Given the description of an element on the screen output the (x, y) to click on. 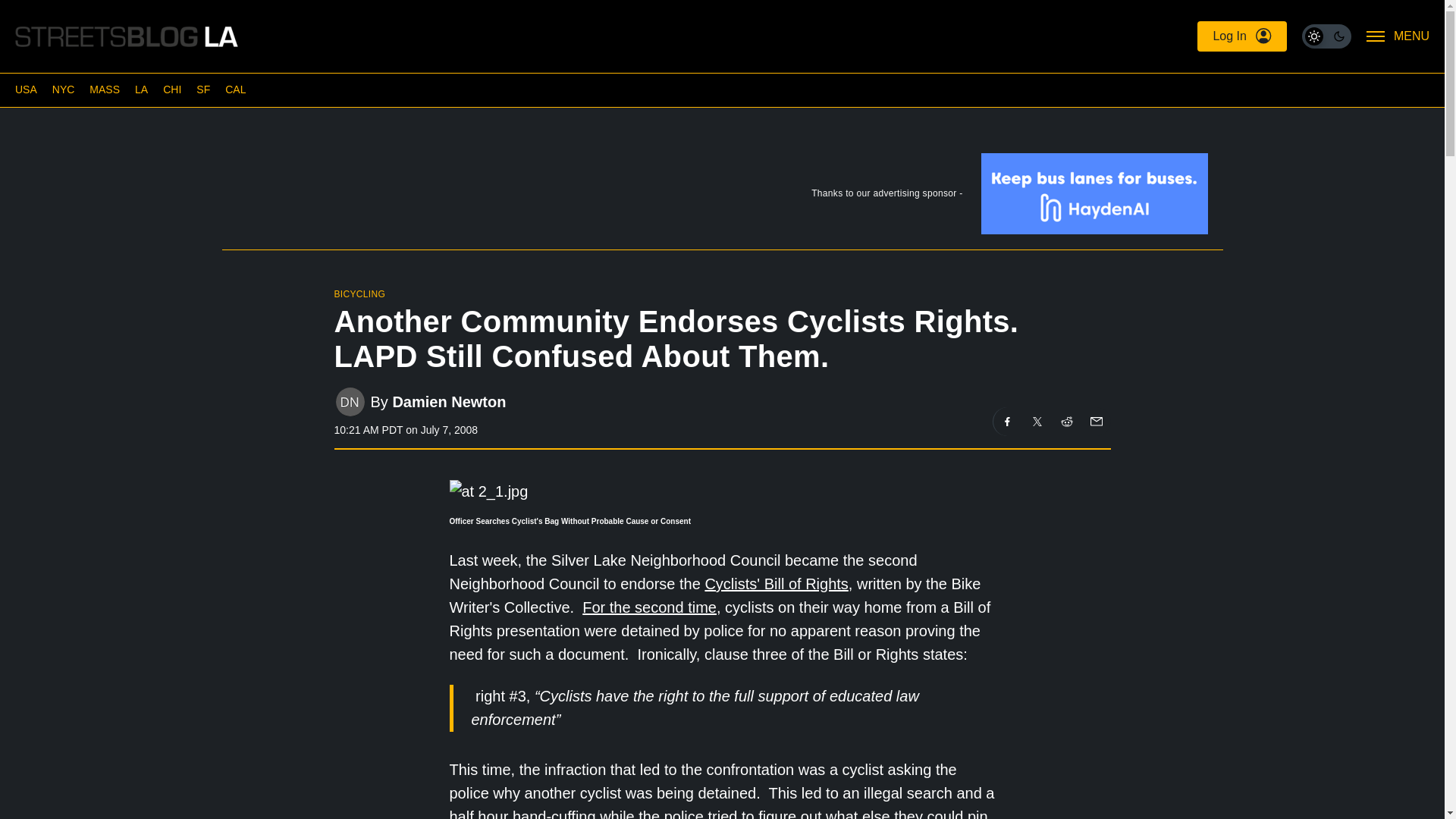
BICYCLING (359, 294)
MENU (1398, 36)
MASS (103, 89)
CAL (235, 89)
Log In (1240, 36)
USA (25, 89)
Thanks to our advertising sponsor - (721, 196)
NYC (63, 89)
Share on Facebook (1007, 421)
Damien Newton (448, 401)
CHI (171, 89)
